Given the description of an element on the screen output the (x, y) to click on. 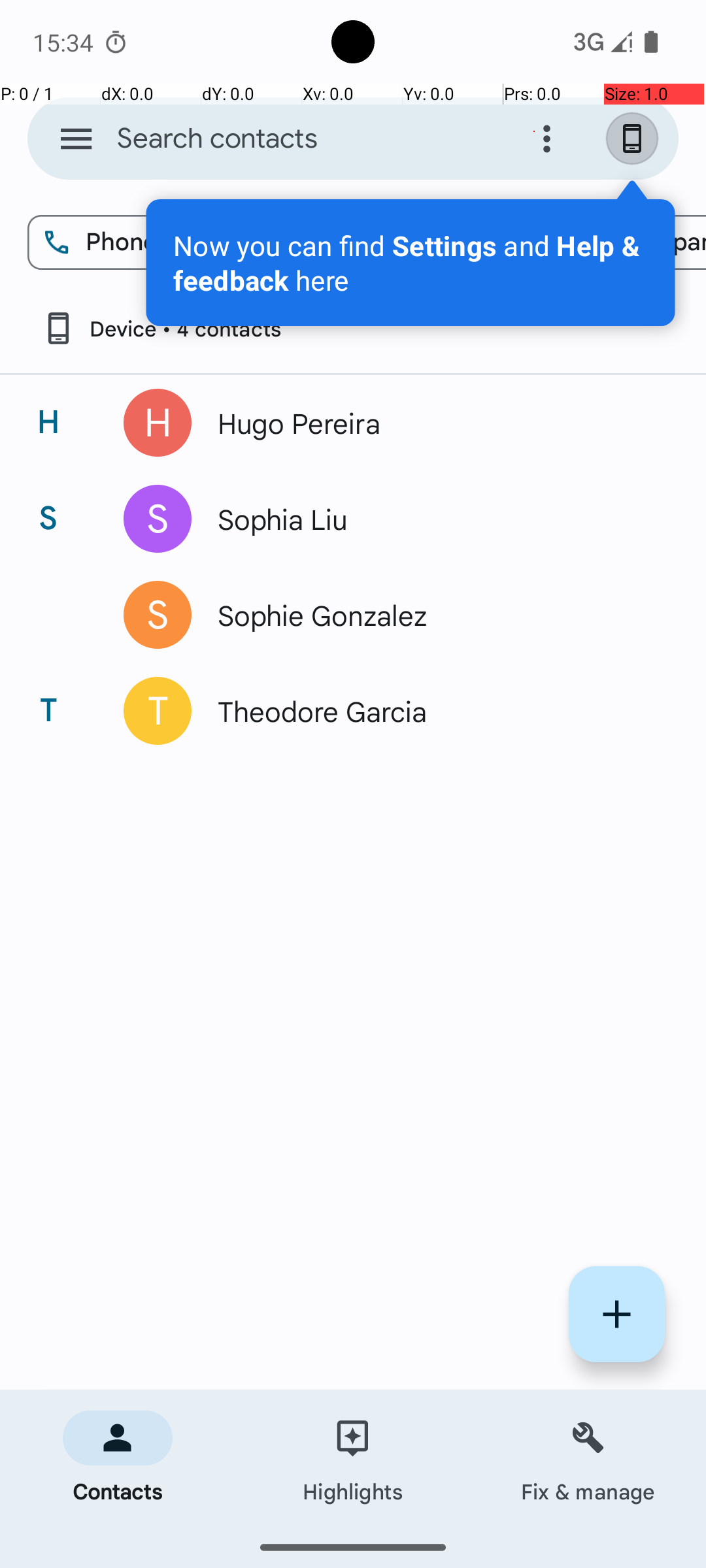
Device • 4 contacts Element type: android.widget.TextView (161, 328)
Hugo Pereira Element type: android.widget.TextView (434, 422)
Sophia Liu Element type: android.widget.TextView (434, 518)
Sophie Gonzalez Element type: android.widget.TextView (434, 614)
Theodore Garcia Element type: android.widget.TextView (434, 710)
